Given the description of an element on the screen output the (x, y) to click on. 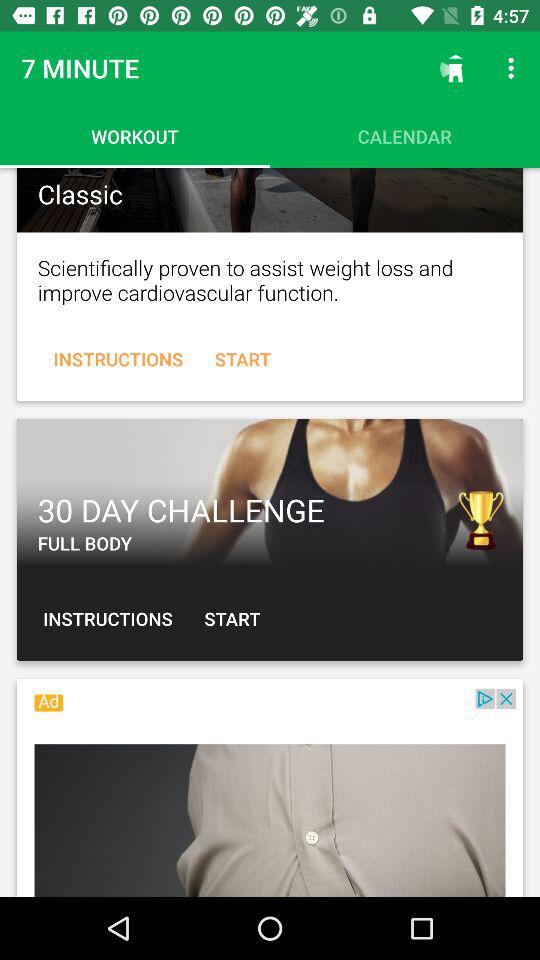
select classic (269, 200)
